Given the description of an element on the screen output the (x, y) to click on. 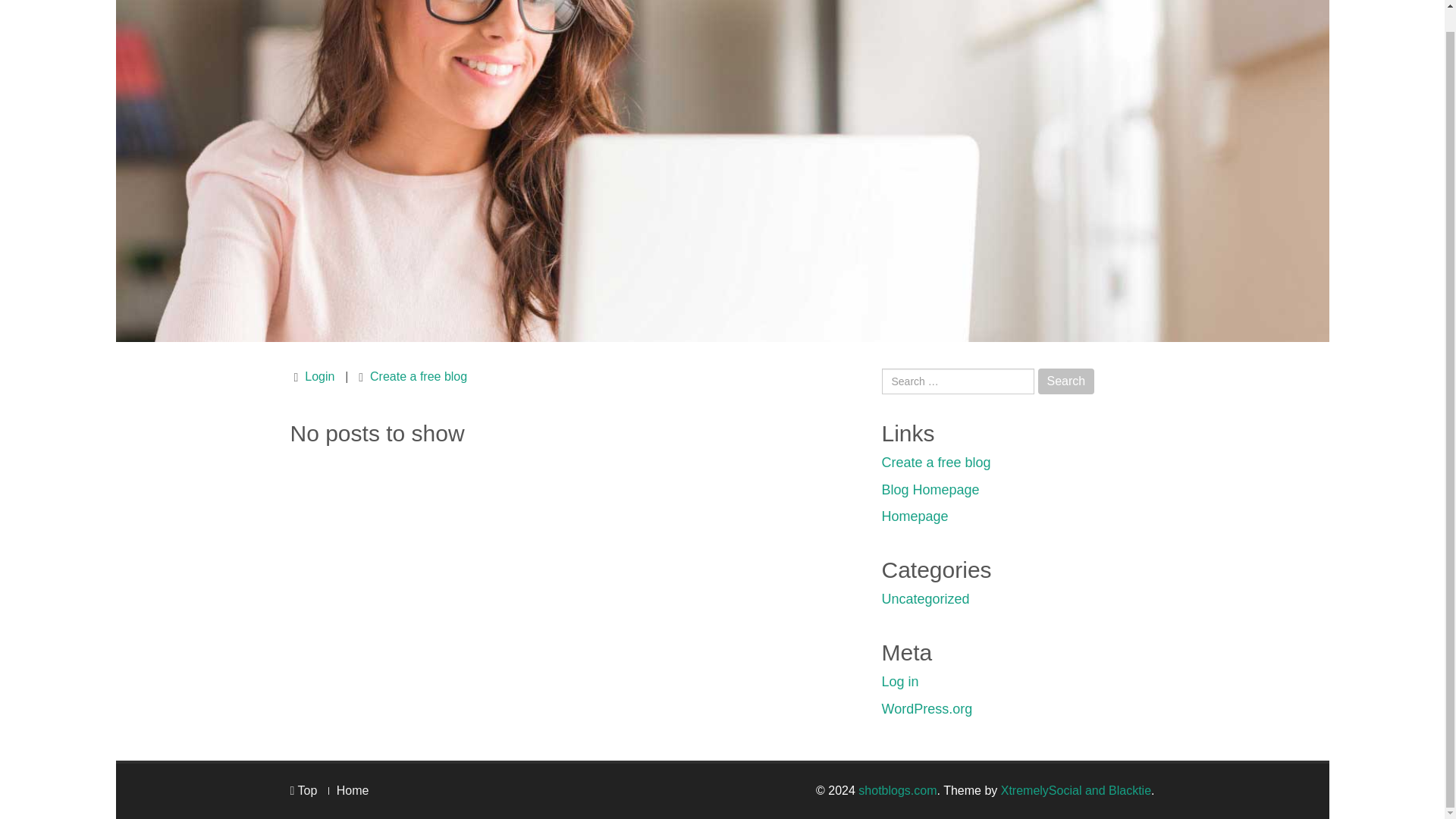
shotblogs.com (897, 789)
Uncategorized (924, 598)
Login (319, 376)
Home (352, 789)
Search (1066, 380)
Back to top of page (303, 789)
Create a free blog (418, 376)
Top (303, 789)
Search (1066, 380)
Log in (899, 681)
Top (303, 789)
Blog Homepage (929, 489)
Homepage (913, 516)
XtremelySocial and Blacktie (1076, 789)
Home (352, 789)
